Given the description of an element on the screen output the (x, y) to click on. 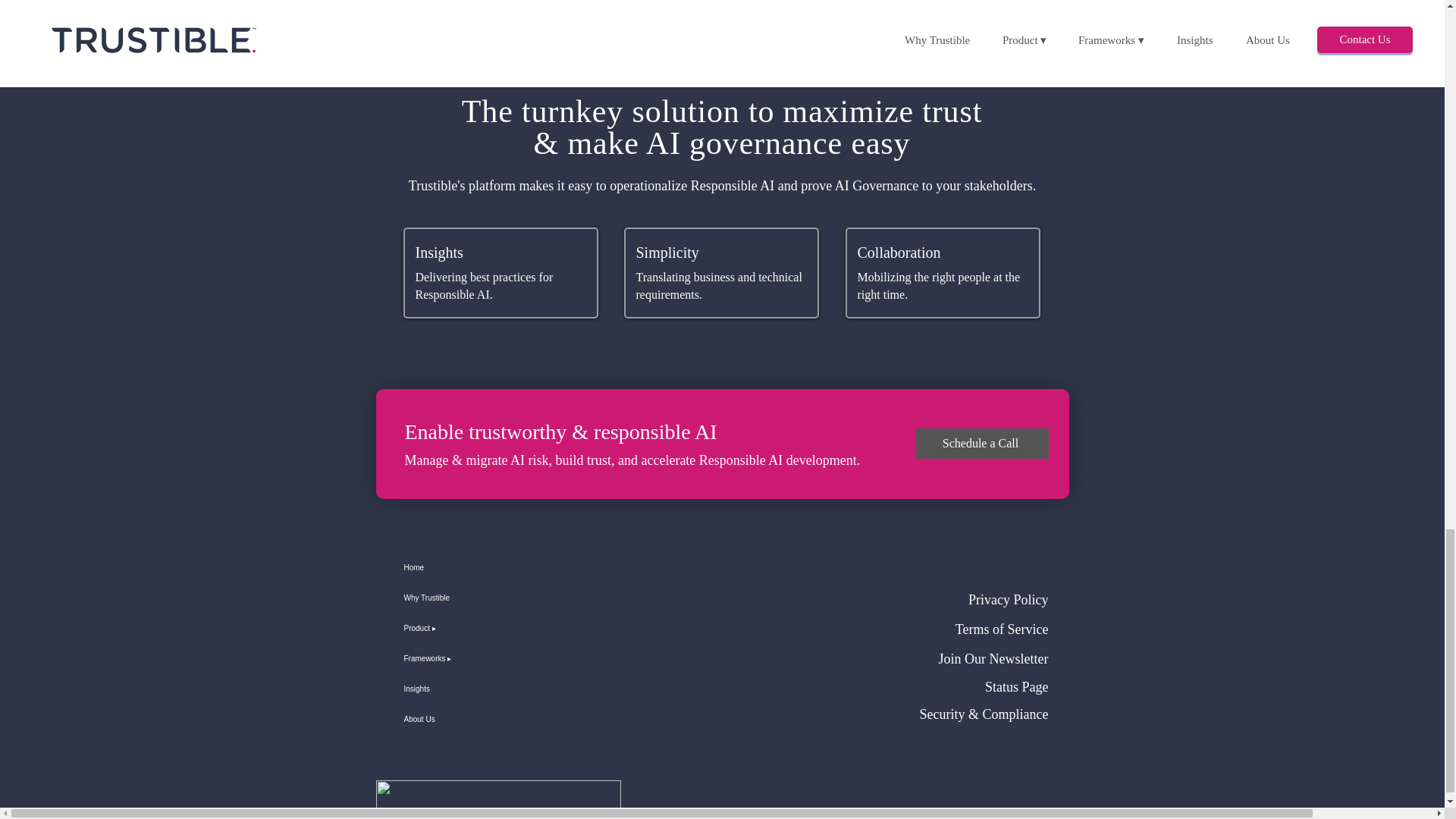
Schedule a Call (981, 443)
Home (457, 567)
Why Trustible (457, 598)
